Given the description of an element on the screen output the (x, y) to click on. 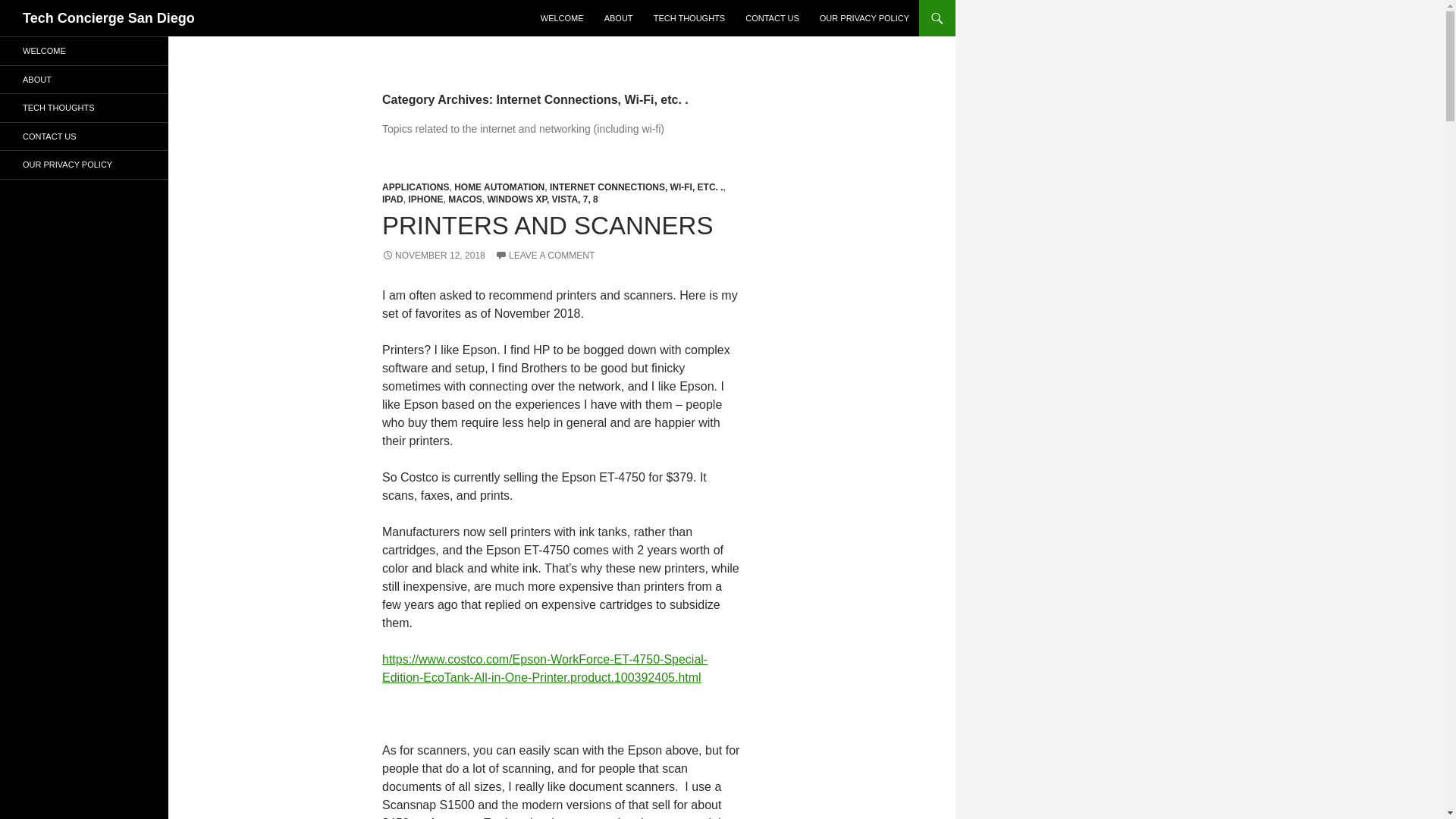
IPAD (392, 199)
CONTACT US (772, 18)
WINDOWS XP, VISTA, 7, 8 (541, 199)
Start here (84, 50)
WELCOME (561, 18)
IPHONE (424, 199)
Get in touch (772, 18)
INTERNET CONNECTIONS, WI-FI, ETC. . (636, 186)
Infrequent but important postings (690, 18)
Infrequent but important postings (84, 108)
